Given the description of an element on the screen output the (x, y) to click on. 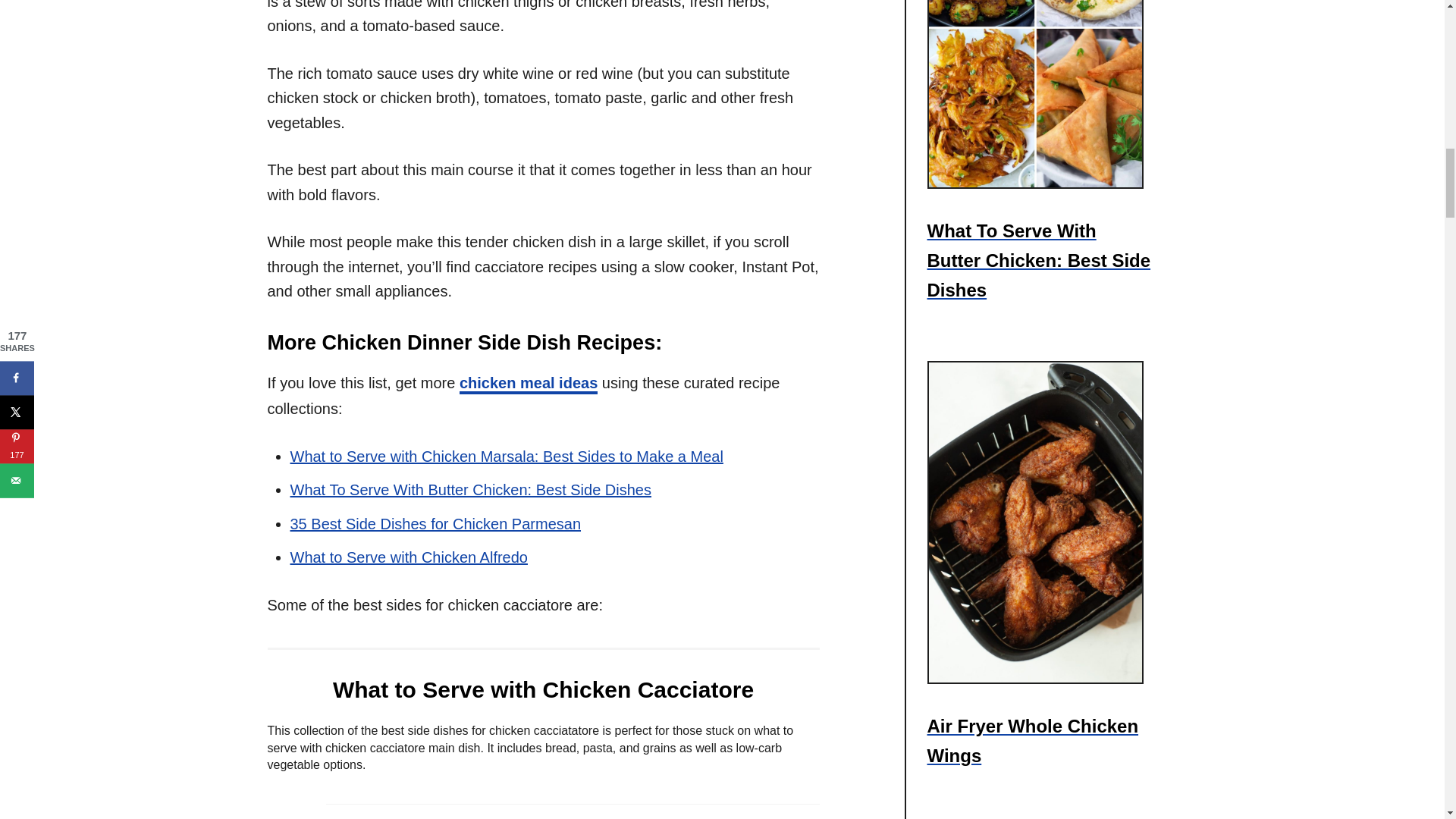
chicken meal ideas (528, 383)
Air Fryer Whole Chicken Wings (1040, 740)
What to Serve with Chicken Alfredo (408, 556)
35 Best Side Dishes for Chicken Parmesan (434, 523)
What To Serve With Butter Chicken: Best Side Dishes (1040, 94)
What To Serve With Butter Chicken: Best Side Dishes (469, 489)
What To Serve With Butter Chicken: Best Side Dishes (1040, 260)
